Given the description of an element on the screen output the (x, y) to click on. 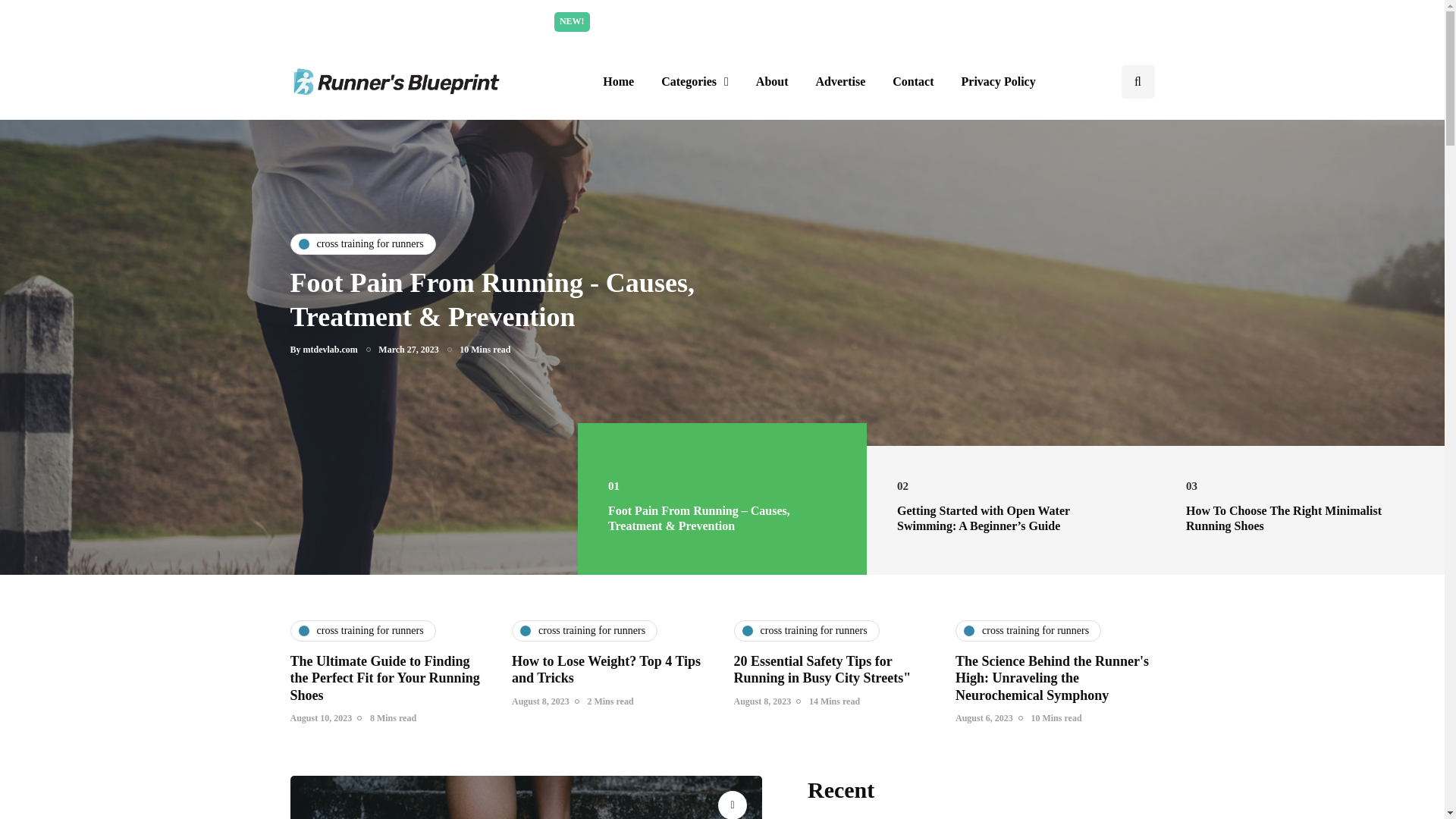
Home (618, 81)
Categories (694, 81)
Contact (913, 81)
About (772, 81)
Read More (866, 21)
Advertise (840, 81)
Posts by mtdevlab.com (330, 348)
Privacy Policy (998, 81)
